Given the description of an element on the screen output the (x, y) to click on. 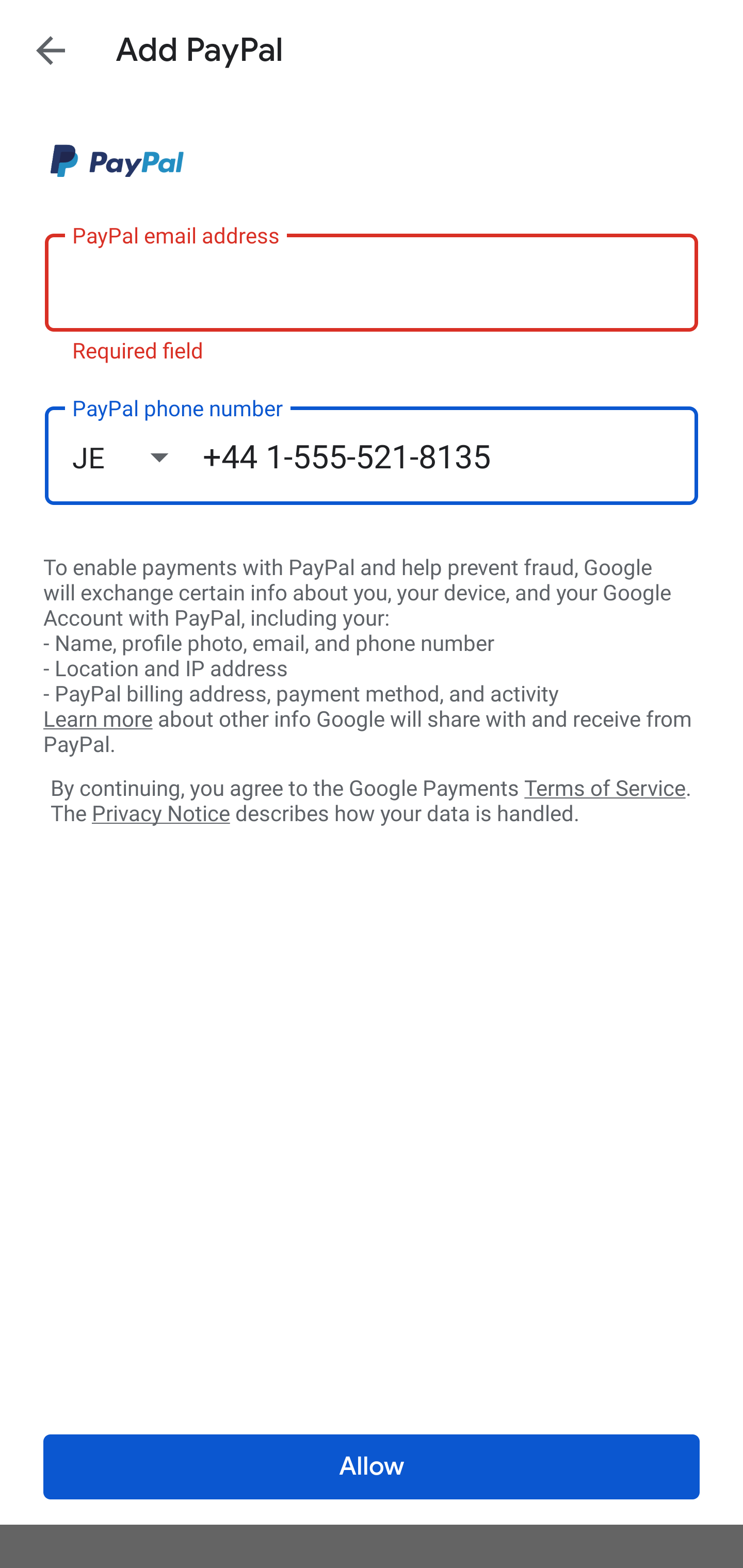
Navigate up (50, 50)
JE (137, 456)
Learn more (97, 719)
Terms of Service (604, 787)
Privacy Notice (160, 814)
Allow (371, 1466)
